Given the description of an element on the screen output the (x, y) to click on. 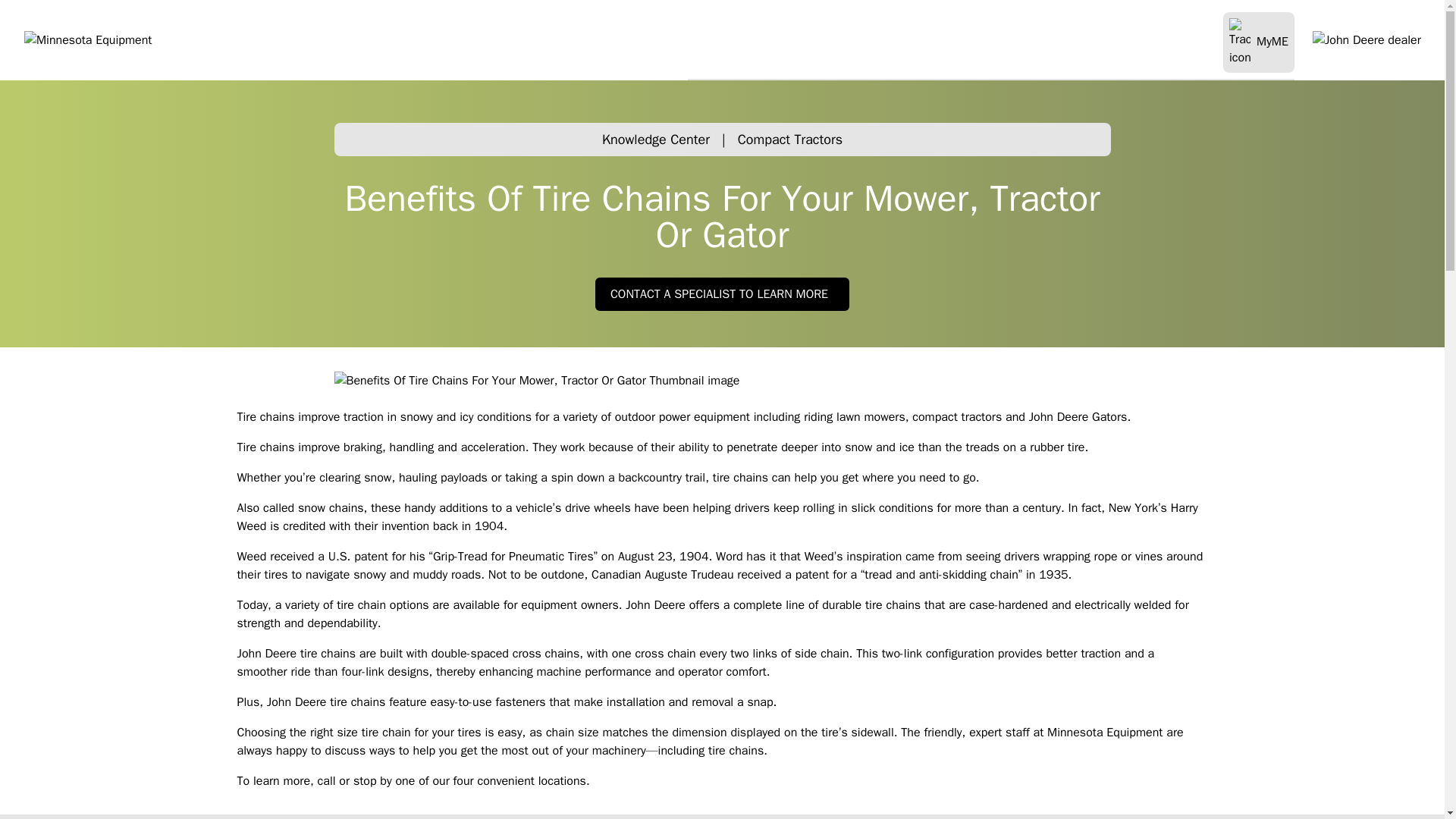
Knowledge Center (656, 139)
MyME (1258, 42)
CONTACT A SPECIALIST TO LEARN MORE (721, 294)
Compact Tractors (790, 139)
